Given the description of an element on the screen output the (x, y) to click on. 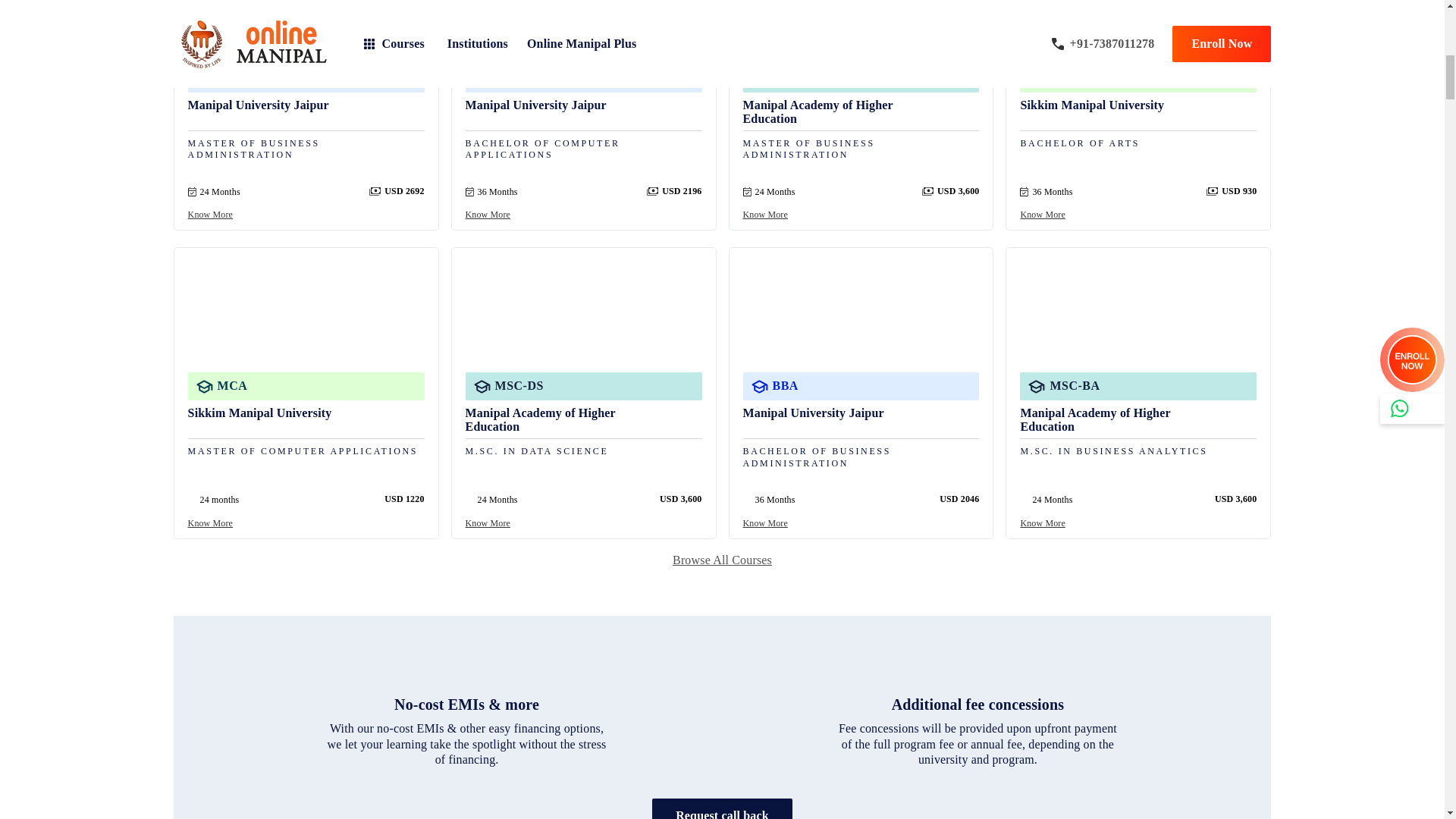
Browse All Courses (721, 559)
